Given the description of an element on the screen output the (x, y) to click on. 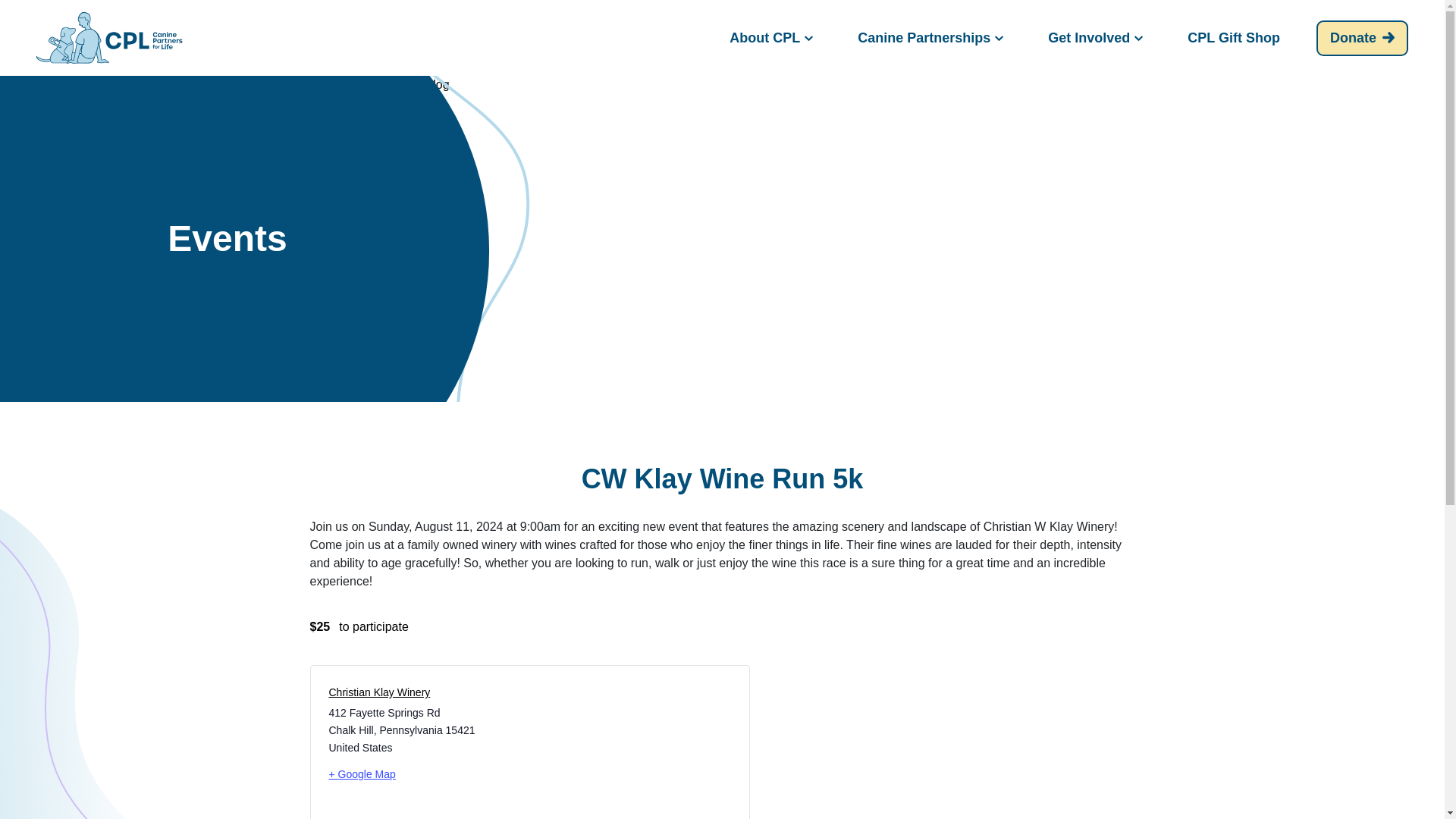
Pennsylvania (410, 729)
Canine Partnerships (928, 37)
CPL Gift Shop (1232, 37)
Christian Klay Winery (379, 692)
Donate (1361, 37)
Click to view a Google Map (423, 773)
Christian Klay Winery (379, 692)
Get Involved (1093, 37)
About CPL (769, 37)
Canine Partners For Life home page (109, 37)
